Given the description of an element on the screen output the (x, y) to click on. 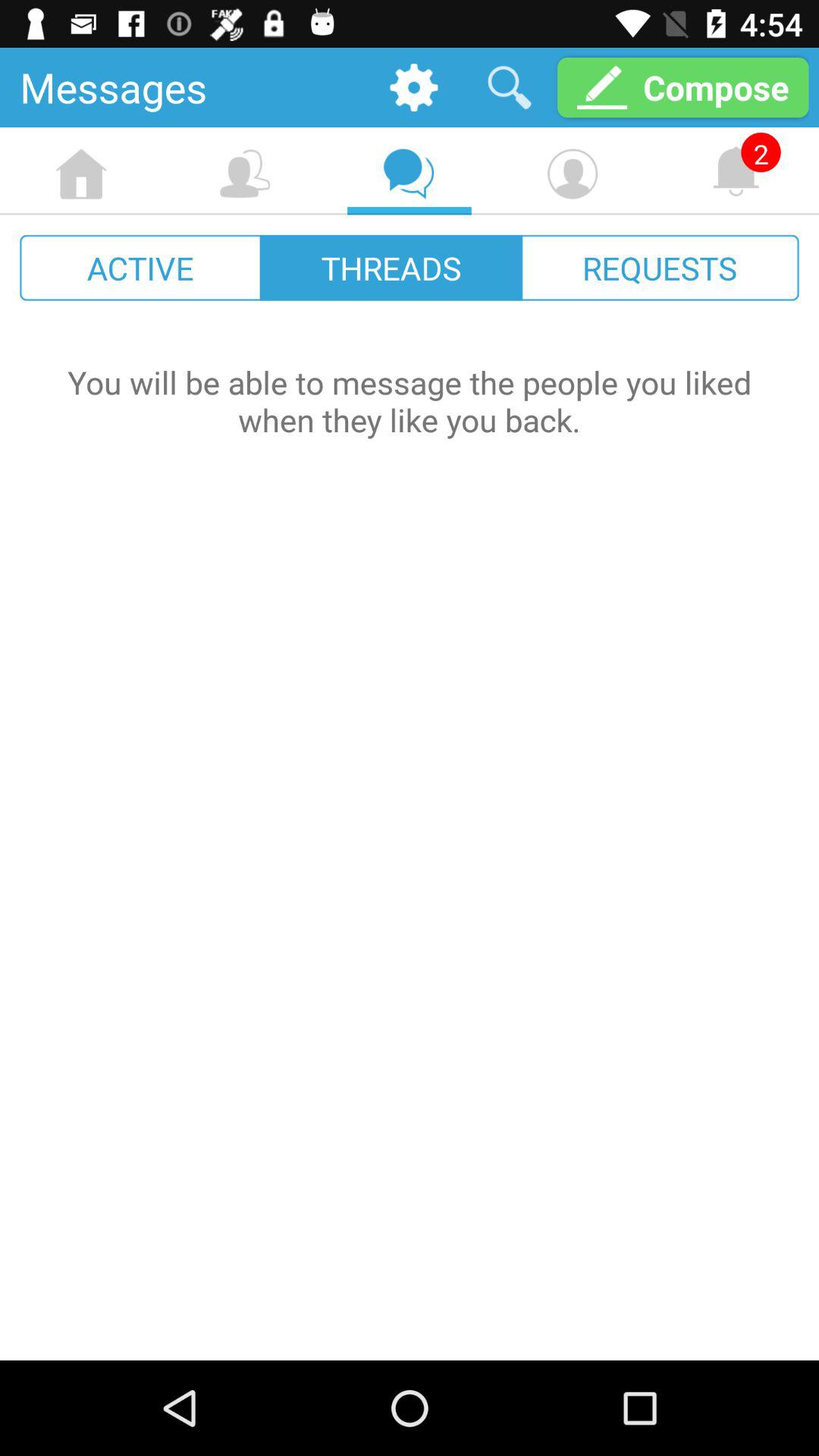
swipe until the requests icon (659, 267)
